Given the description of an element on the screen output the (x, y) to click on. 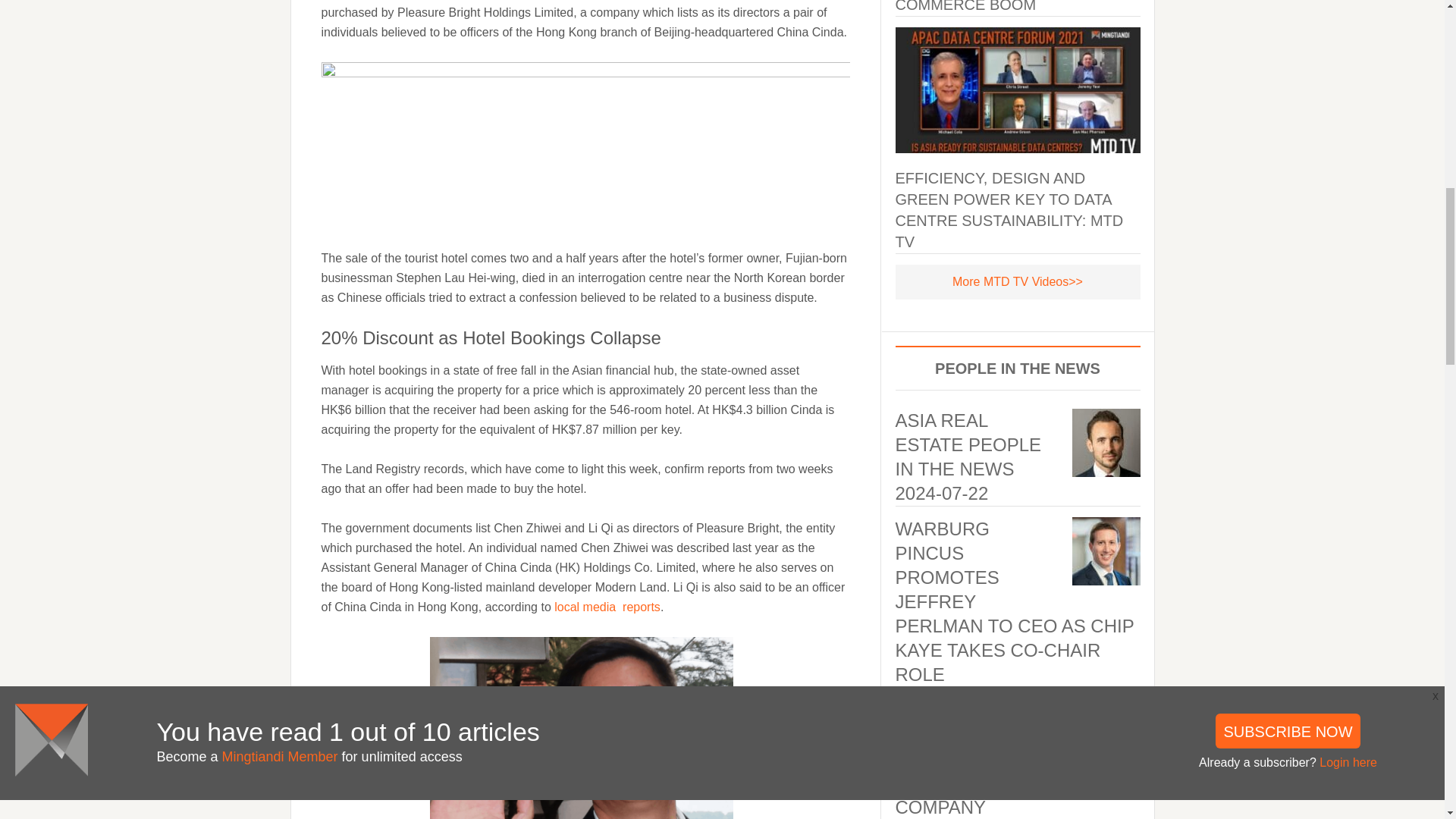
local media  reports (607, 606)
MTD TV Video (1017, 281)
Asia Real Estate People in the News 2024-07-22 (968, 456)
Investors Boost APAC Logistics Deals Amid E-Commerce Boom (992, 6)
